Given the description of an element on the screen output the (x, y) to click on. 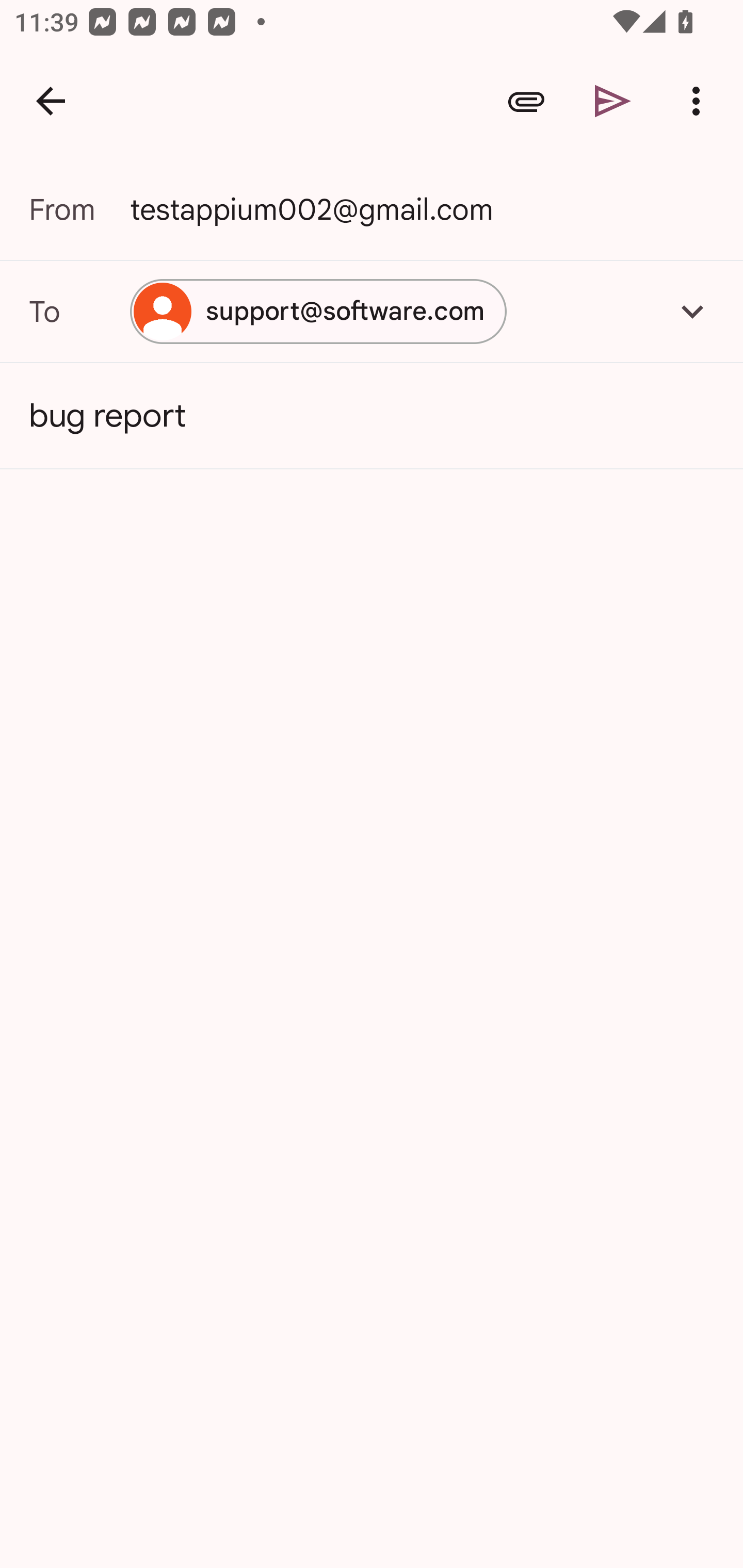
Navigate up (50, 101)
Attach file (525, 101)
Send (612, 101)
More options (699, 101)
From (79, 209)
Add Cc/Bcc (692, 311)
bug report (371, 415)
